Given the description of an element on the screen output the (x, y) to click on. 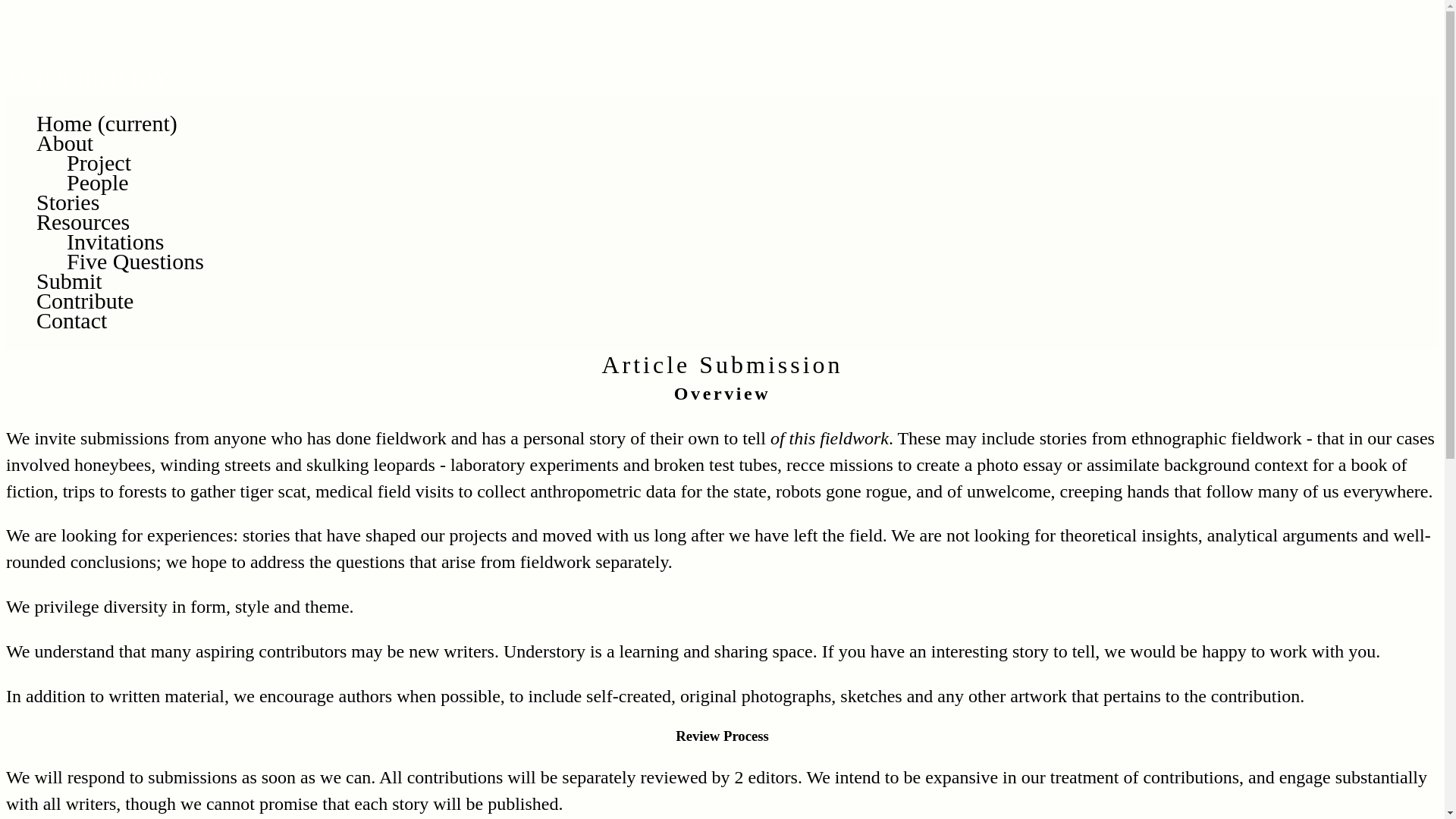
Contribute (84, 300)
Contact (71, 319)
UNDERSTORY (89, 78)
About (64, 142)
Submit (68, 280)
Invitations (114, 241)
Project (98, 162)
Five Questions (134, 260)
Stories (67, 201)
Resources (82, 221)
